Given the description of an element on the screen output the (x, y) to click on. 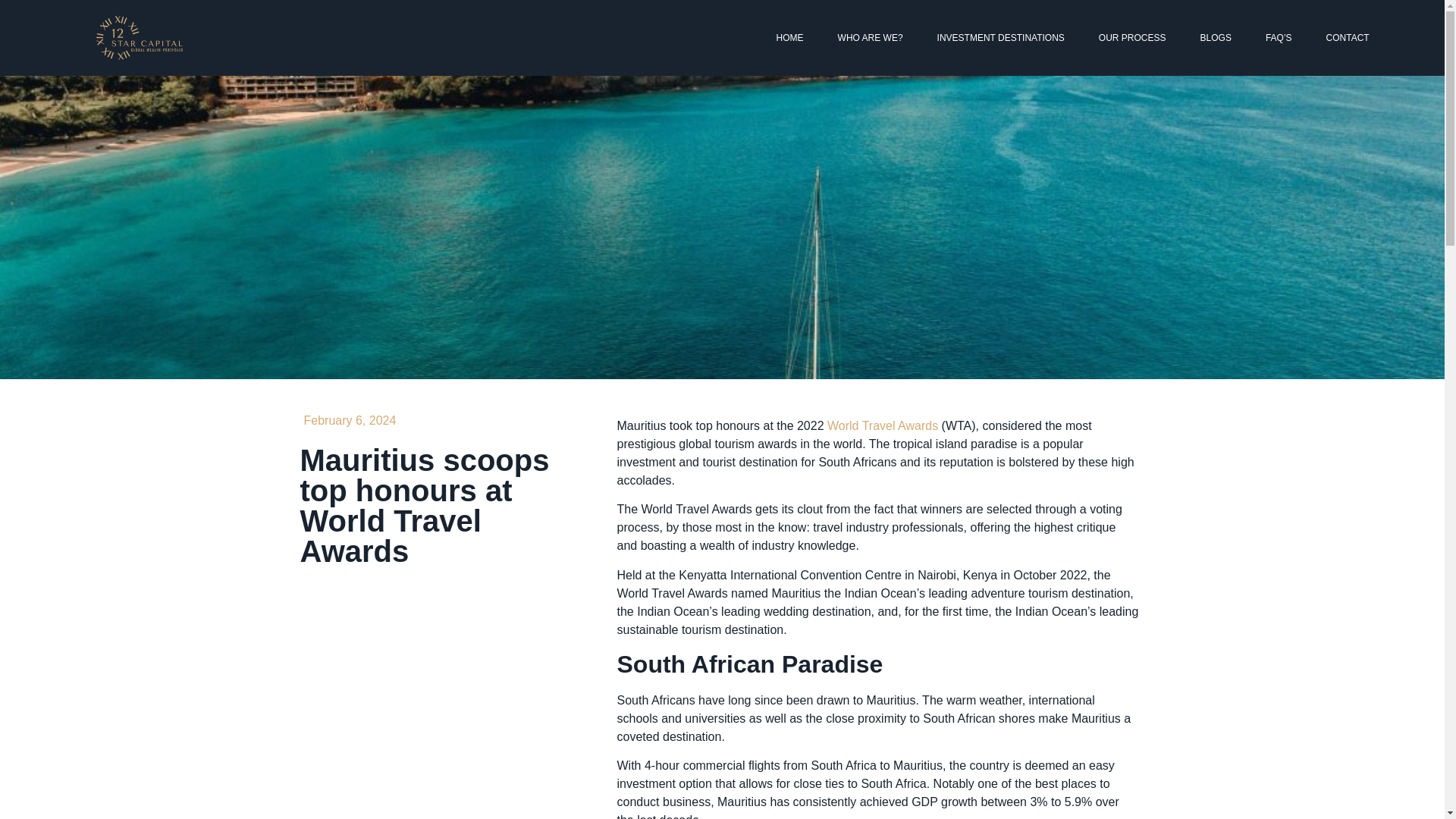
INVESTMENT DESTINATIONS (1000, 37)
OUR PROCESS (1131, 37)
BLOGS (1215, 37)
HOME (789, 37)
CONTACT (1347, 37)
World Travel Awards (882, 425)
February 6, 2024 (347, 420)
WHO ARE WE? (870, 37)
